Given the description of an element on the screen output the (x, y) to click on. 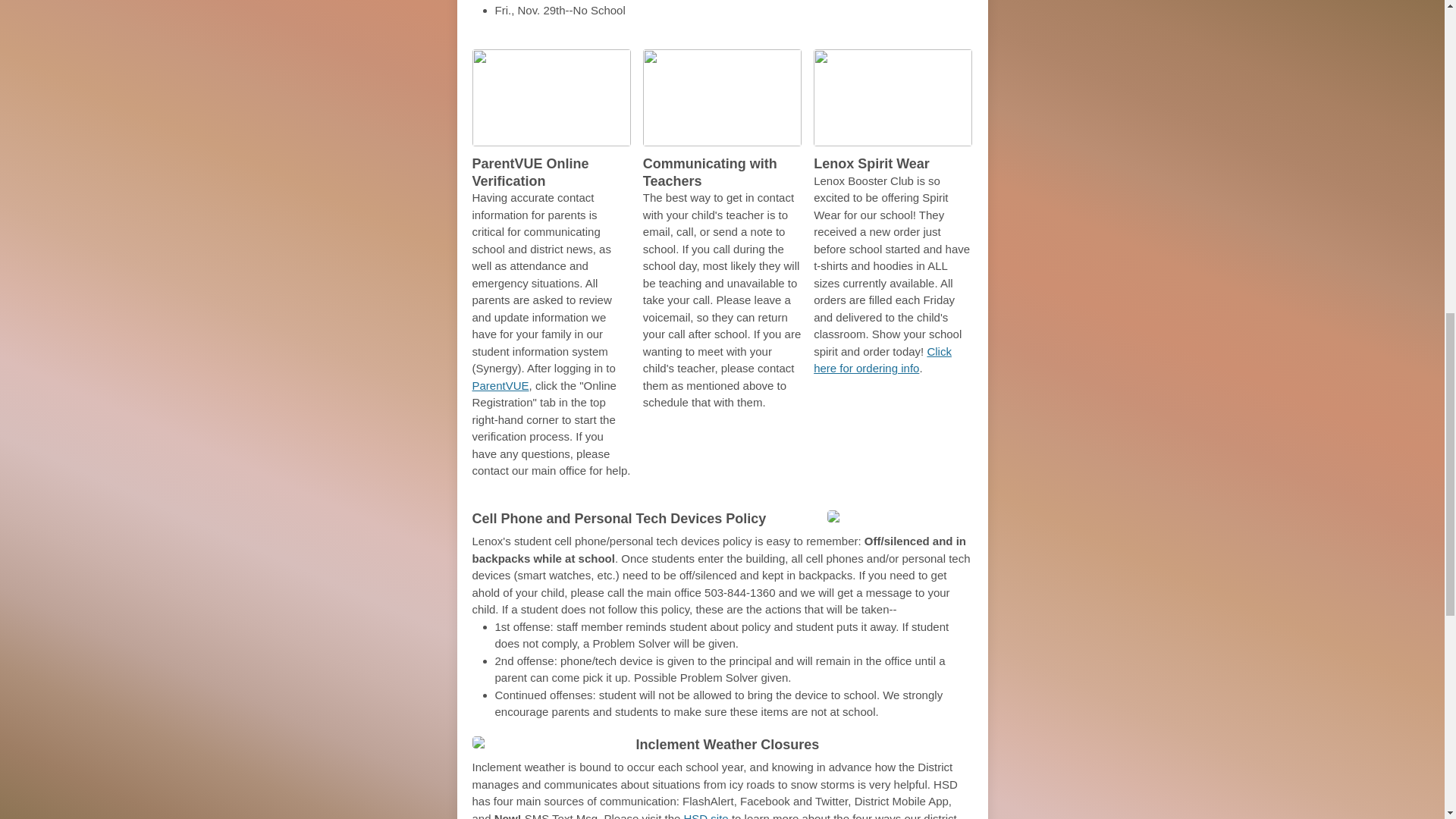
ParentVUE (499, 385)
Click here for ordering info (882, 358)
HSD site (708, 815)
